Given the description of an element on the screen output the (x, y) to click on. 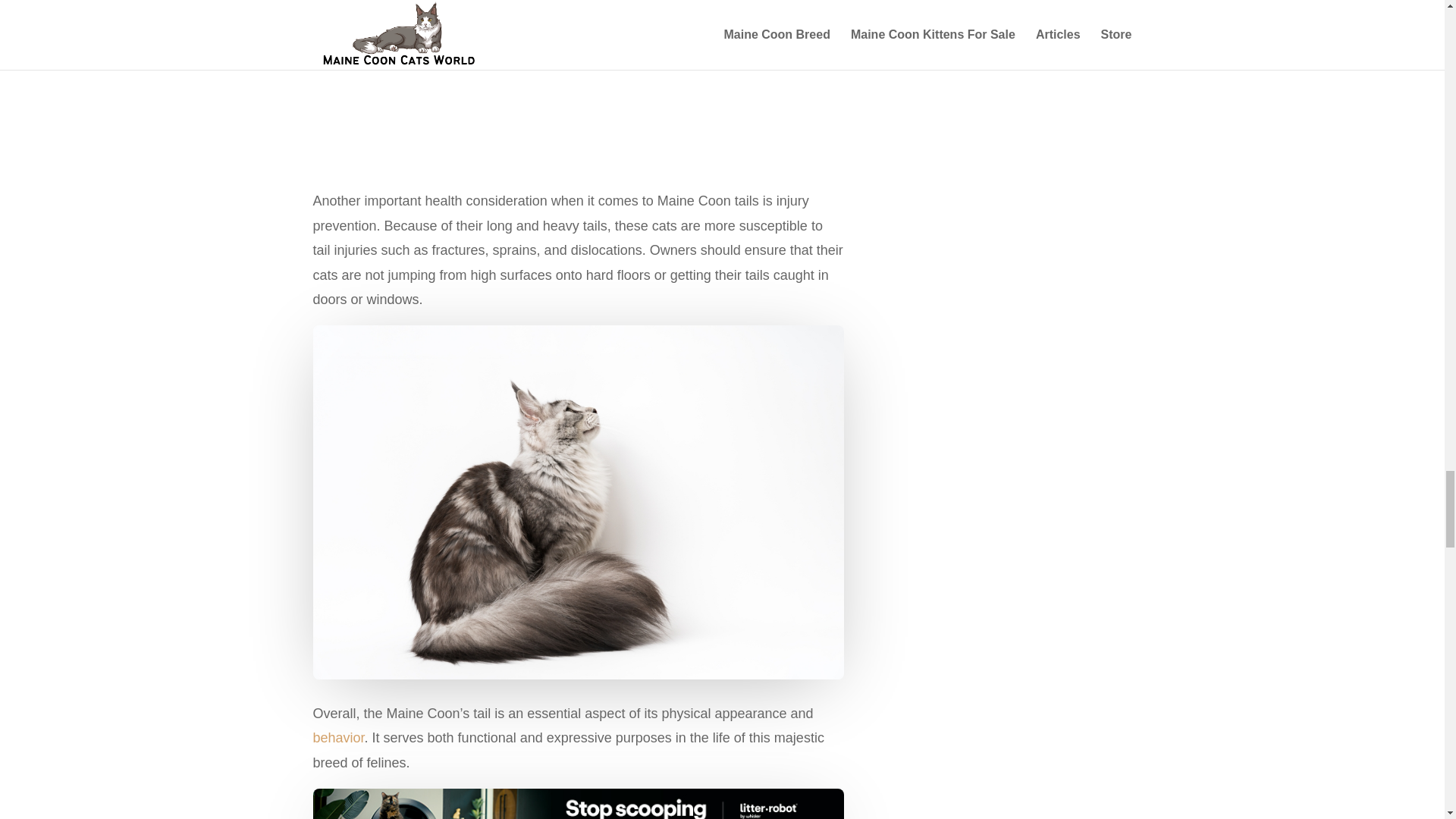
behavior (338, 737)
behavior (338, 737)
